Given the description of an element on the screen output the (x, y) to click on. 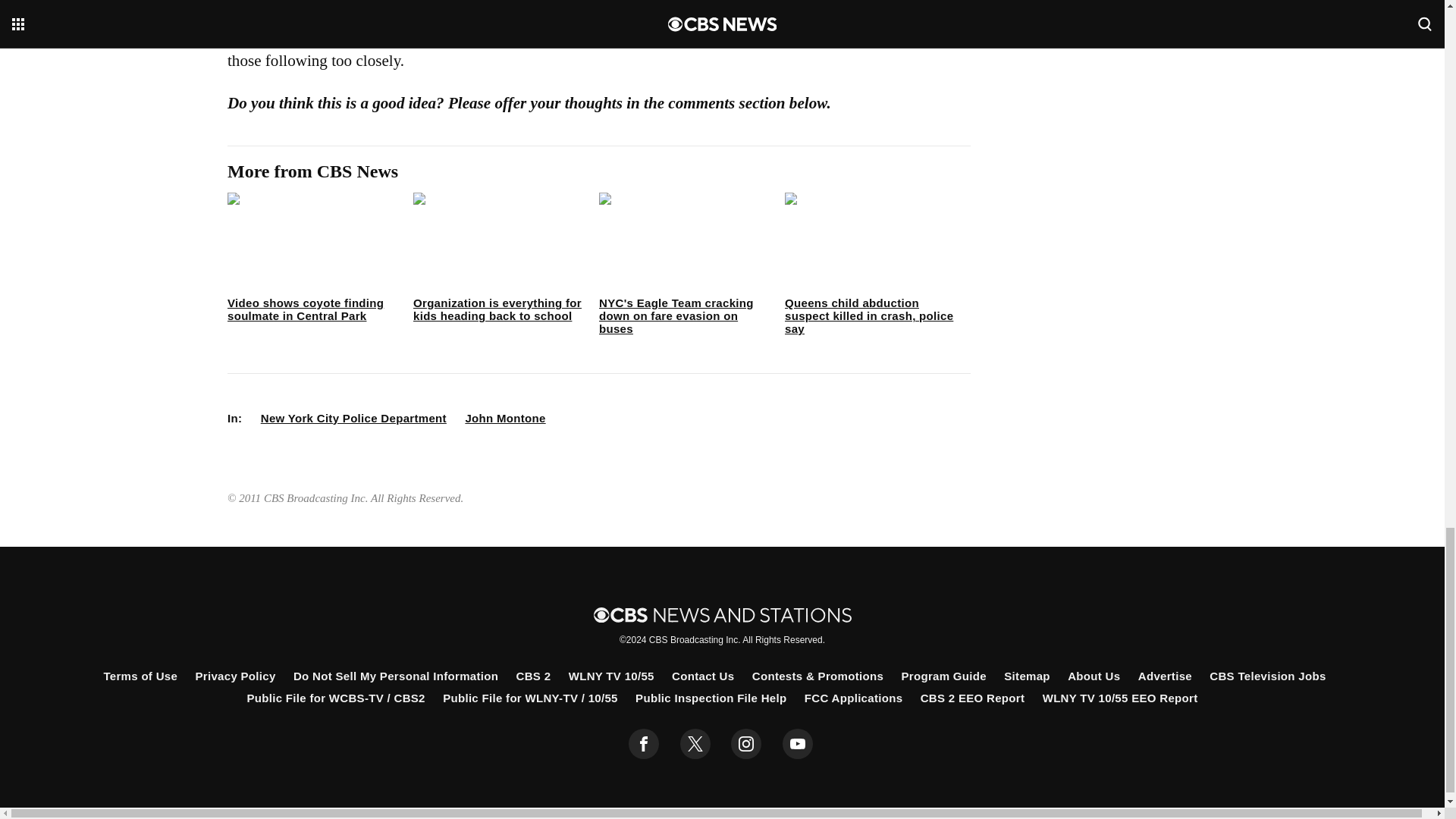
twitter (694, 743)
facebook (643, 743)
youtube (797, 743)
instagram (745, 743)
